Given the description of an element on the screen output the (x, y) to click on. 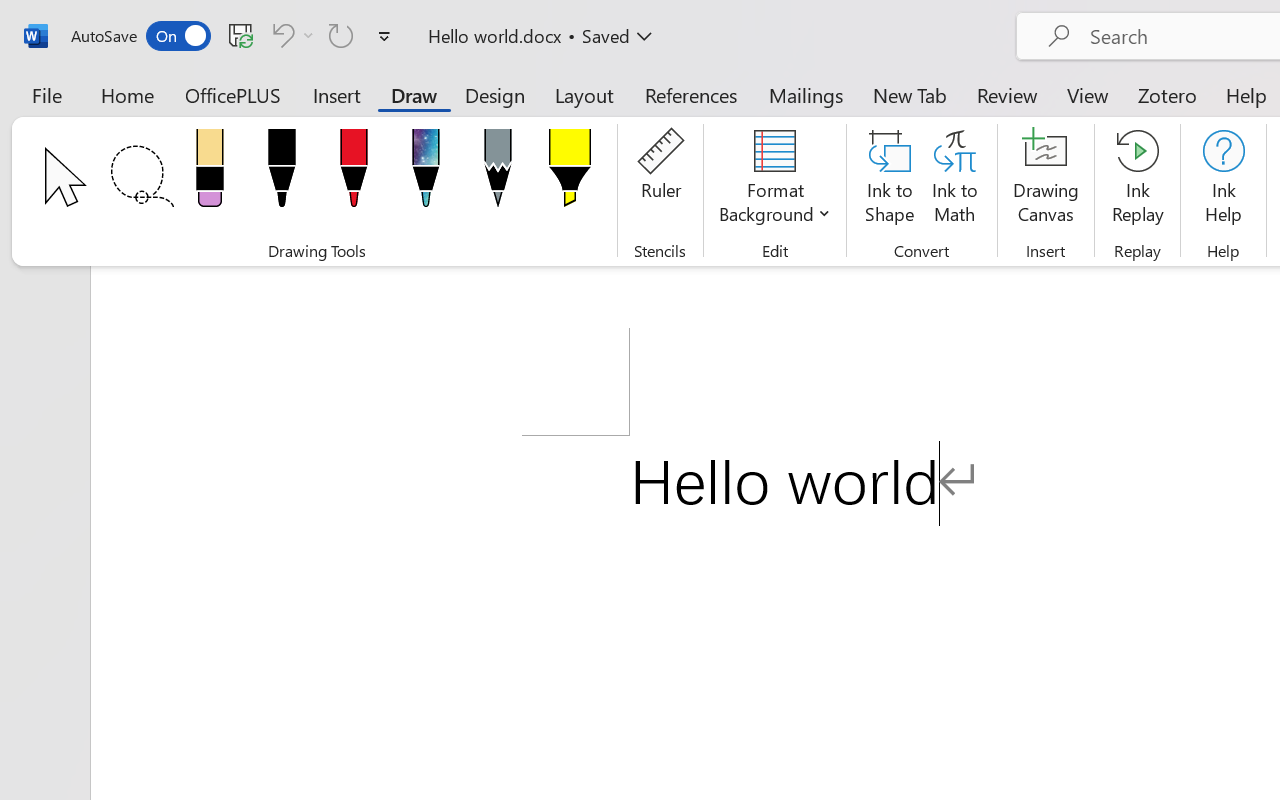
Draw (413, 94)
Layout (584, 94)
References (690, 94)
Pen: Black, 0.5 mm (281, 173)
Pencil: Gray, 1 mm (497, 173)
Design (495, 94)
View (1087, 94)
New Tab (909, 94)
OfficePLUS (233, 94)
Zotero (1166, 94)
AutoSave (140, 35)
Mailings (806, 94)
Can't Repeat (341, 35)
Home (127, 94)
